Given the description of an element on the screen output the (x, y) to click on. 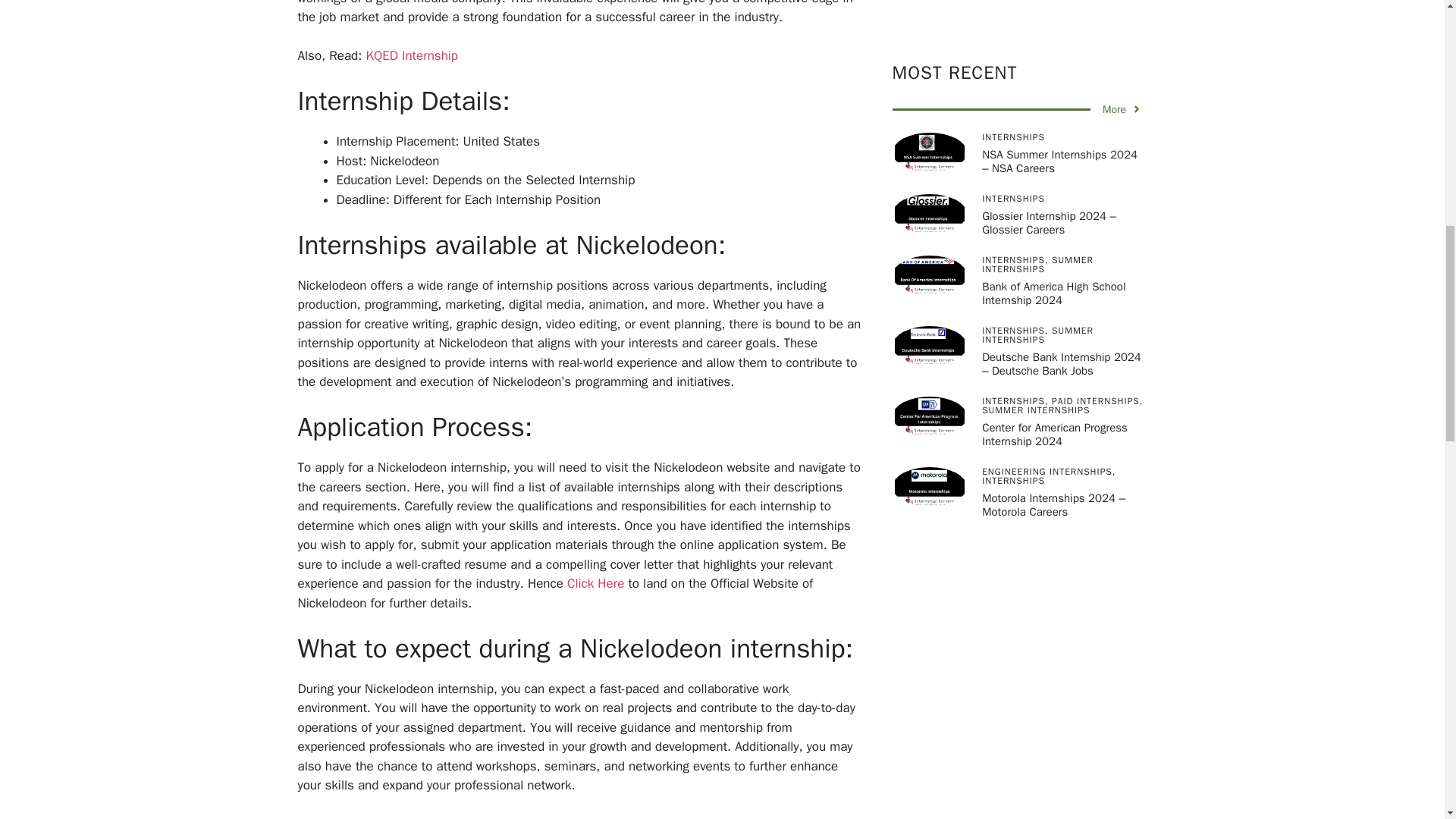
Center for American Progress Internship 2024 (1053, 70)
KQED Internship (411, 55)
Click Here (595, 583)
